Given the description of an element on the screen output the (x, y) to click on. 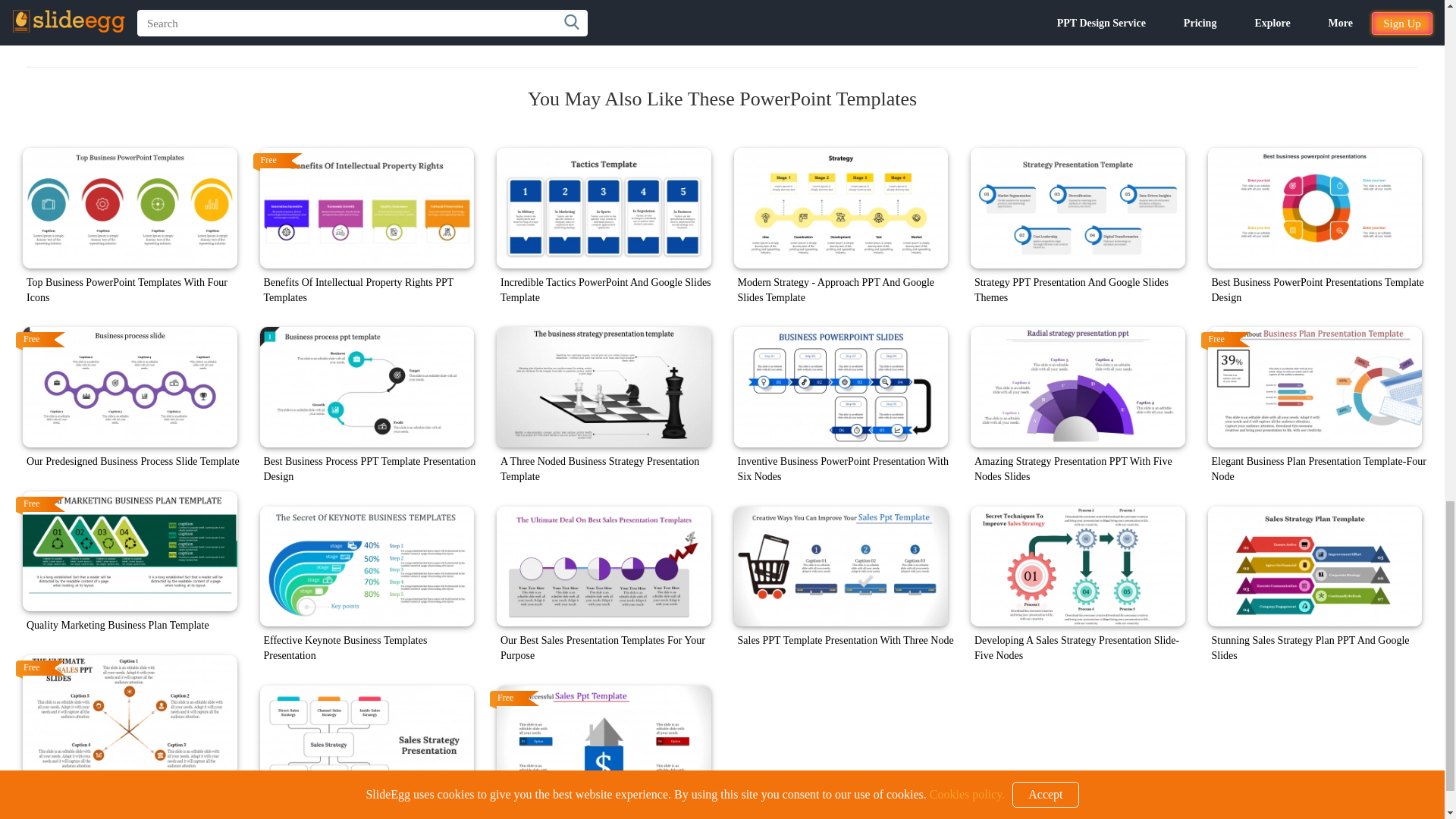
Inventive Business PowerPoint Presentation with Six Nodes (841, 386)
Our Predesigned Business Process Slide Template (130, 386)
Amazing Strategy Presentation PPT with Five Nodes Slides (1078, 386)
Sales PPT Template Presentation With Three Node (841, 566)
Strategy PPT Presentation And Google Slides Themes (1078, 208)
Modern Strategy - Approach PPT And Google Slides Template (841, 208)
Quality marketing business plan template (130, 551)
Top Business PowerPoint Templates with Four Icons (130, 208)
A three noded business strategy presentation template (603, 386)
Creative Sales Strategy PowerPoint And Google Slides (366, 745)
Best Business Process PPT Template Presentation Design (366, 386)
Our Best Sales Presentation Templates For Your Purpose (603, 566)
Effective Keynote Business Templates Presentation (366, 566)
Creative Sales PPT Template Presentation (603, 745)
Benefits Of Intellectual Property Rights PPT Templates (366, 208)
